Given the description of an element on the screen output the (x, y) to click on. 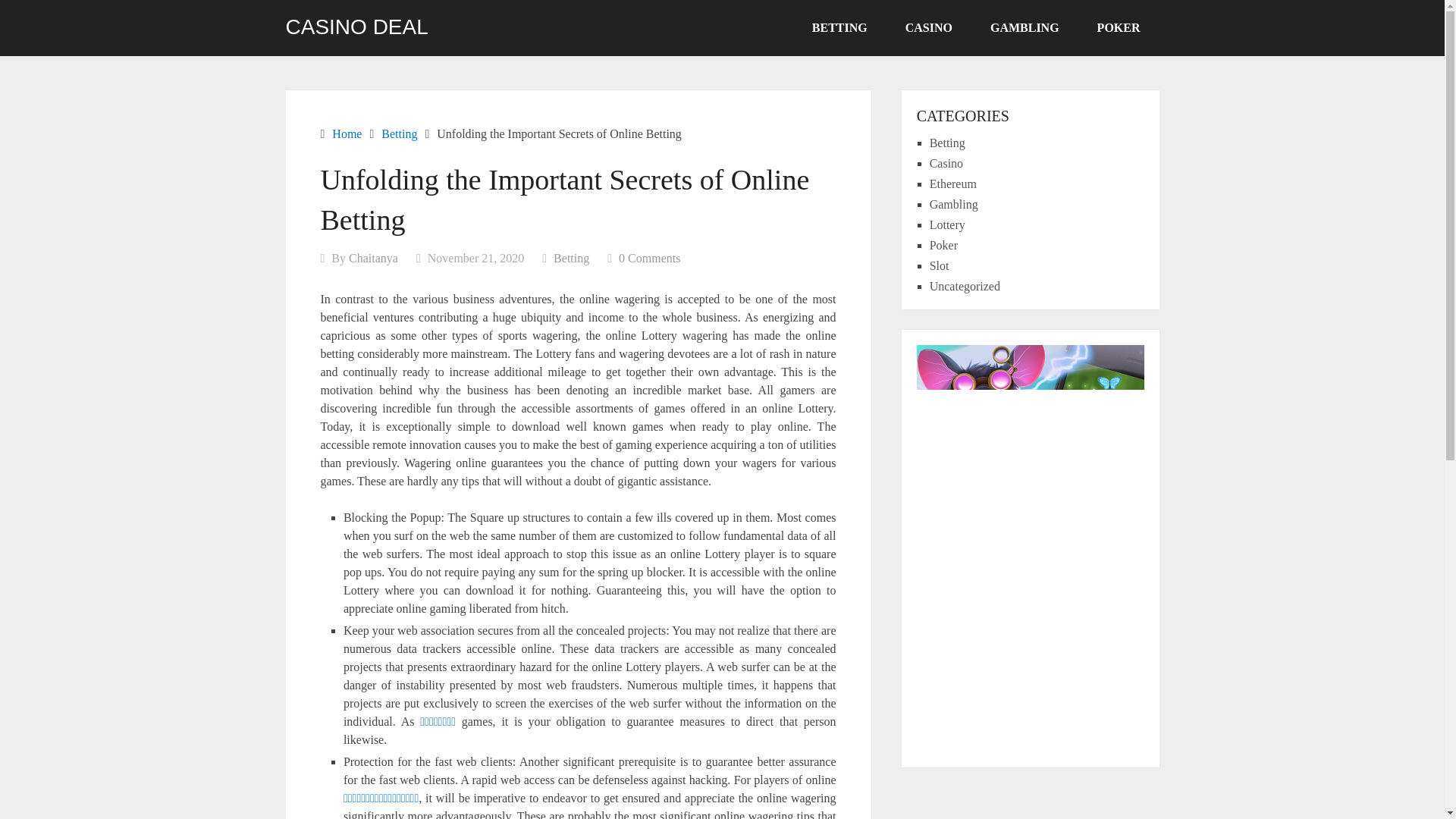
Betting (947, 142)
Lottery (947, 224)
Posts by Chaitanya (373, 257)
Uncategorized (965, 286)
Home (346, 133)
Casino (946, 163)
Ethereum (953, 183)
BETTING (839, 28)
CASINO DEAL (356, 26)
Betting (571, 257)
